Given the description of an element on the screen output the (x, y) to click on. 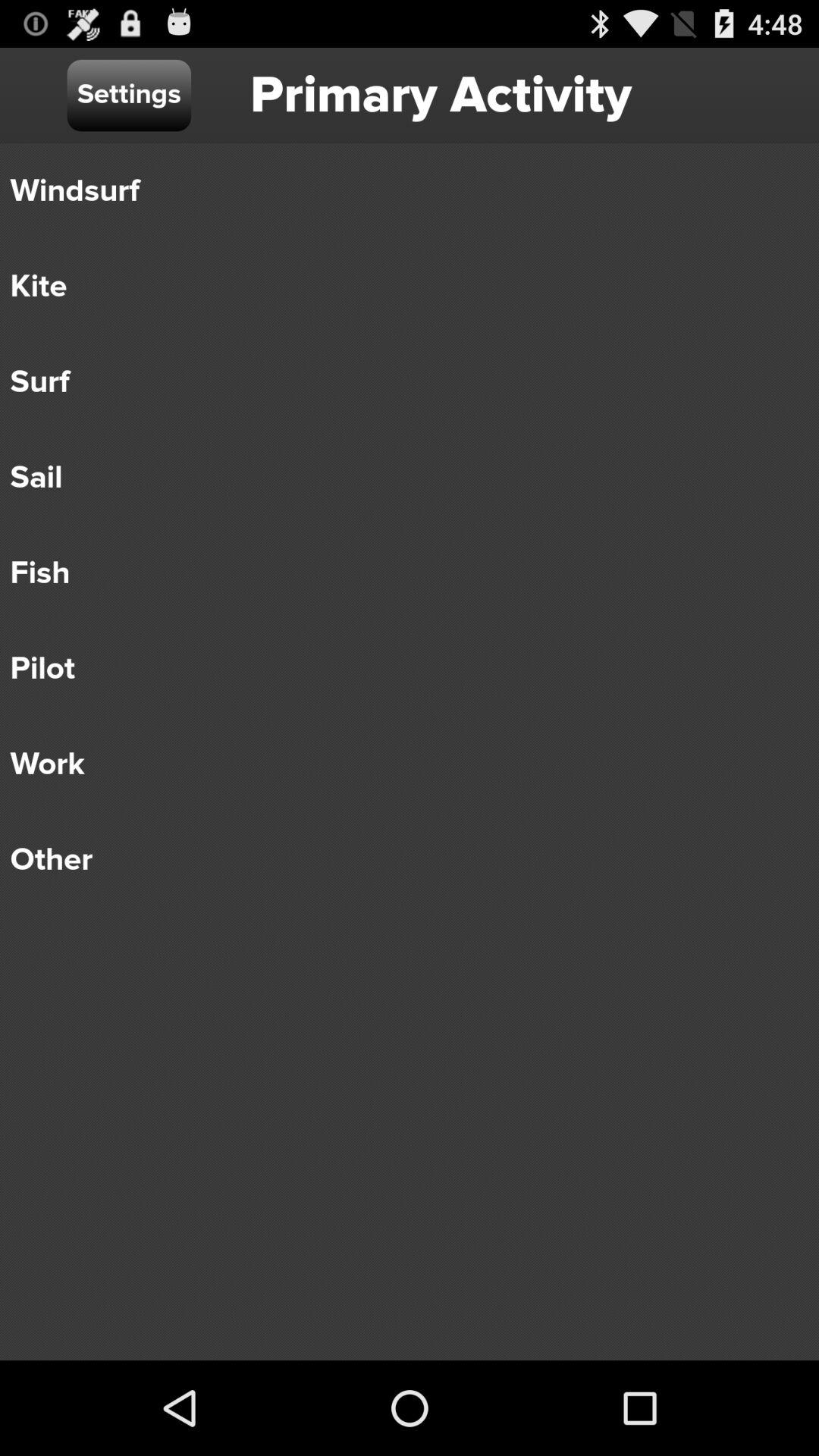
select item above the windsurf item (129, 95)
